Given the description of an element on the screen output the (x, y) to click on. 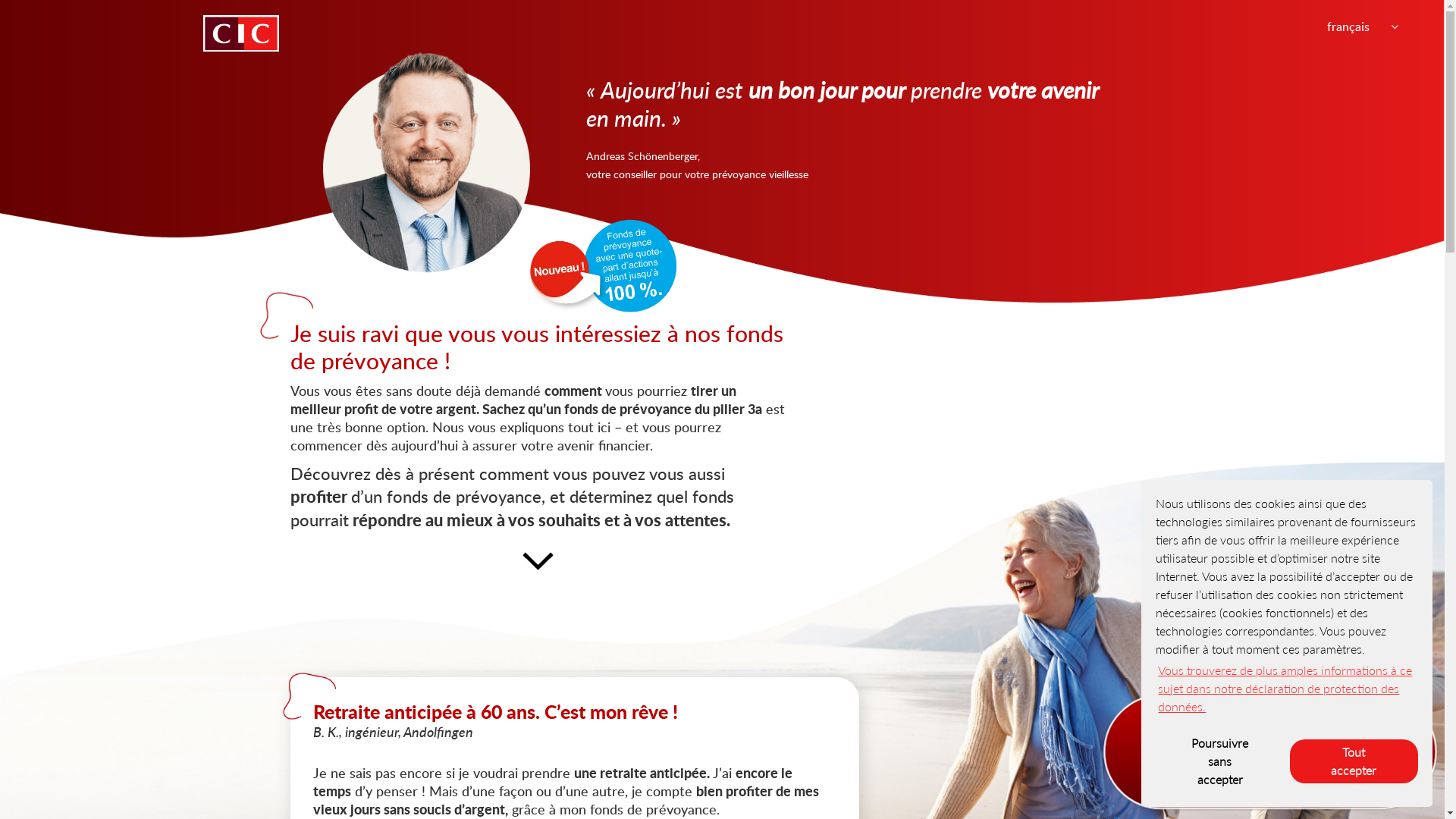
Tout accepter Element type: text (1353, 761)
Poursuivre sans accepter Element type: text (1219, 761)
